Given the description of an element on the screen output the (x, y) to click on. 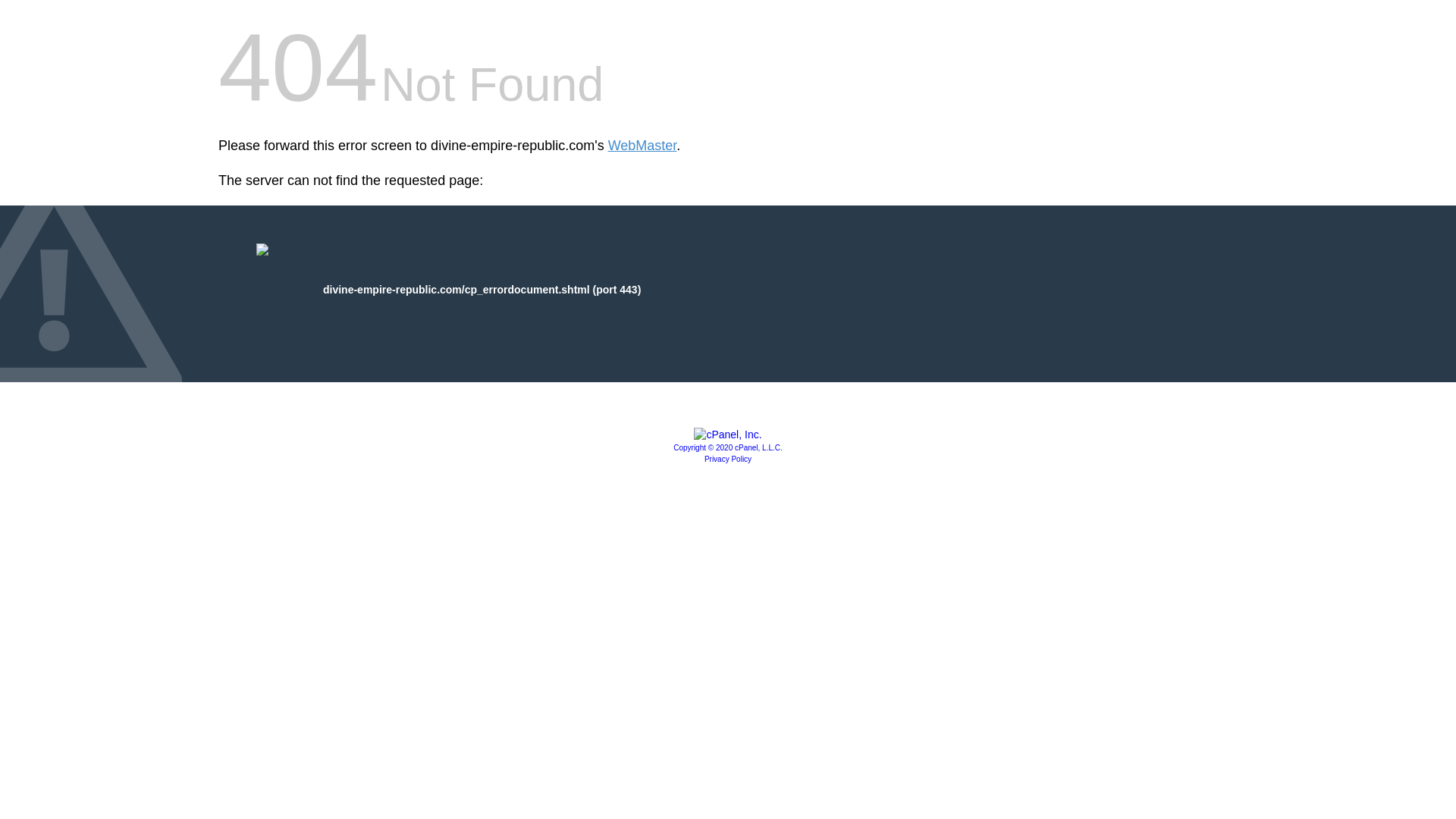
cPanel, Inc. (727, 447)
WebMaster (642, 145)
cPanel, Inc. (727, 434)
Privacy Policy (727, 459)
